Given the description of an element on the screen output the (x, y) to click on. 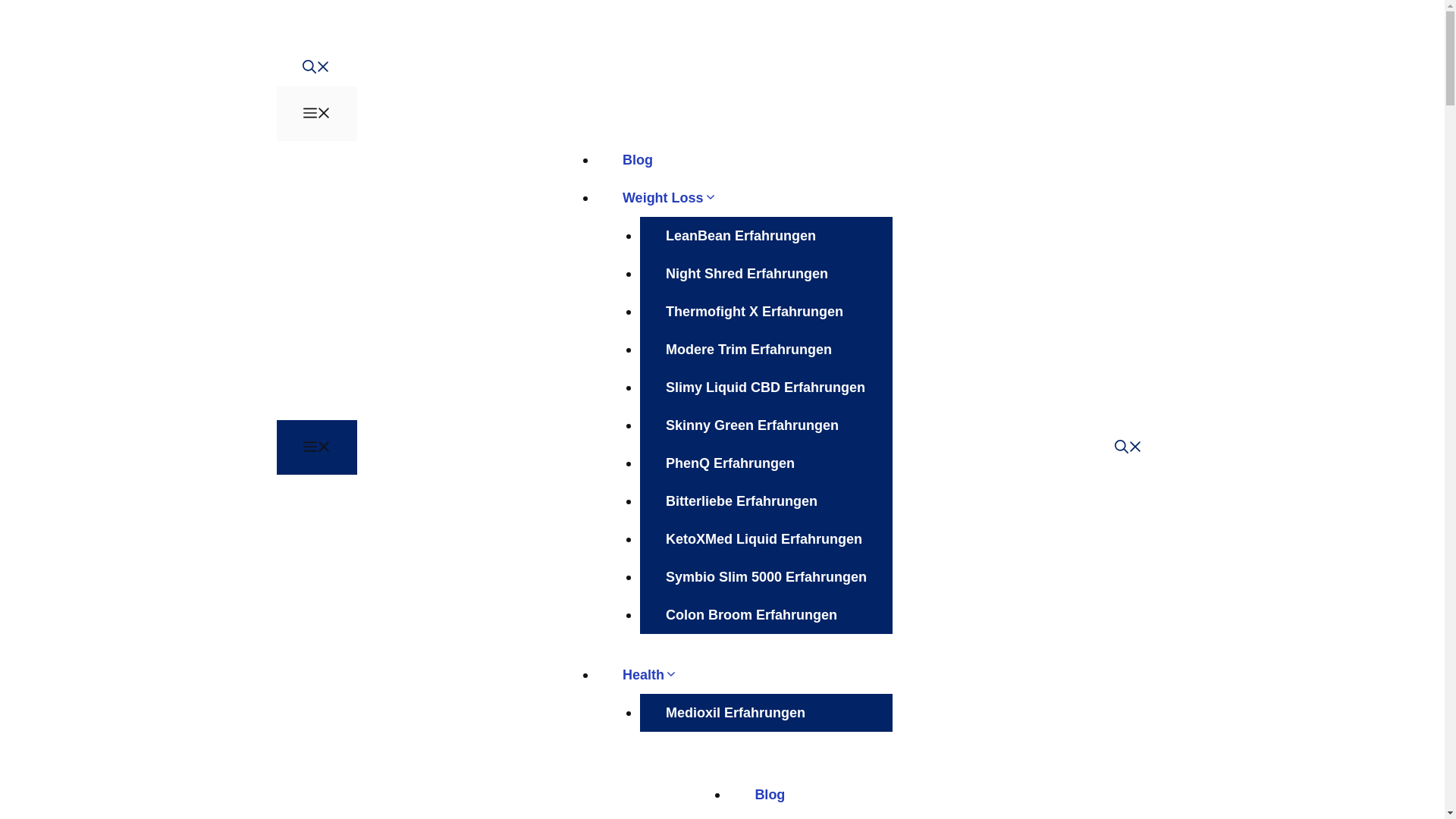
Colon Broom Erfahrungen (751, 614)
Blog (769, 794)
Skinny Green Erfahrungen (752, 425)
Medioxil Erfahrungen (735, 712)
PhenQ Erfahrungen (730, 463)
Slimy Liquid CBD Erfahrungen (765, 387)
KetoXMed Liquid Erfahrungen (764, 538)
Weight Loss (682, 197)
Symbio Slim 5000 Erfahrungen (766, 577)
Health (662, 674)
Night Shred Erfahrungen (746, 273)
Modere Trim Erfahrungen (748, 349)
Thermofight X Erfahrungen (754, 311)
Bitterliebe Erfahrungen (741, 500)
Blog (637, 159)
